Given the description of an element on the screen output the (x, y) to click on. 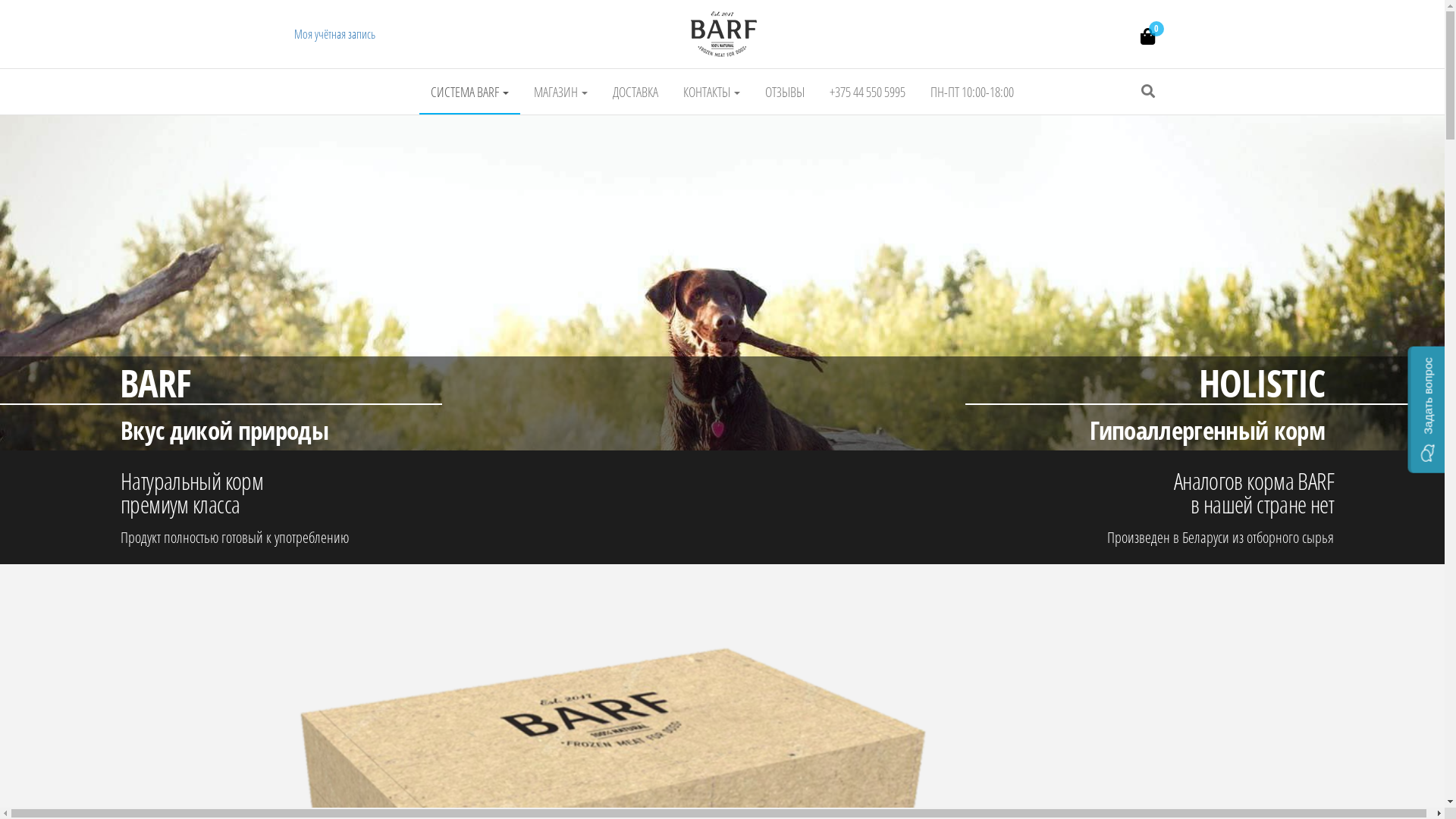
BARF.BY Element type: text (470, 68)
+375 44 550 5995 Element type: text (867, 91)
0 Element type: text (1146, 36)
